Given the description of an element on the screen output the (x, y) to click on. 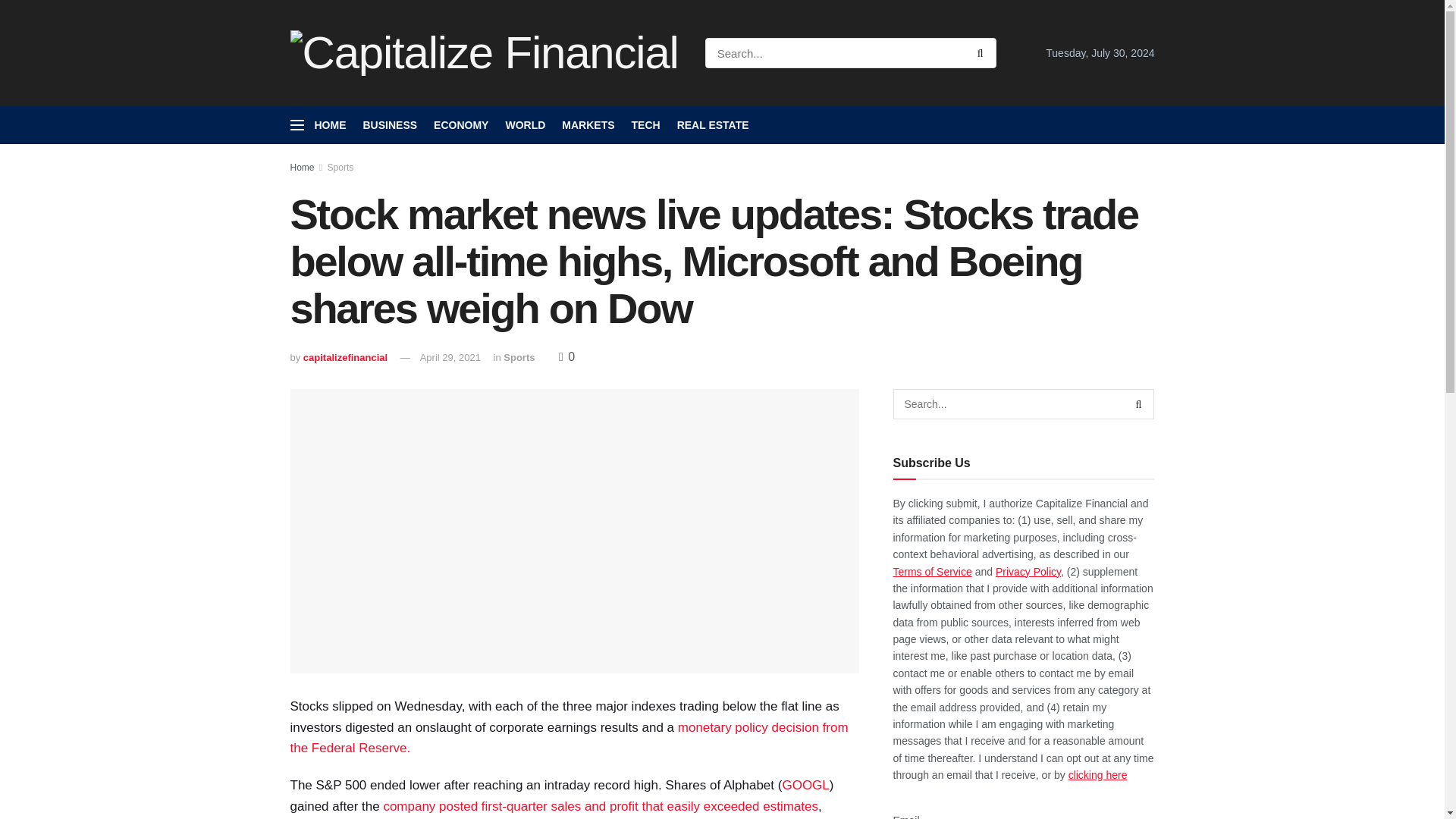
BUSINESS (389, 125)
0 (567, 356)
REAL ESTATE (713, 125)
Sports (518, 357)
MARKETS (588, 125)
ECONOMY (460, 125)
capitalizefinancial (344, 357)
Home (301, 167)
GOOGL (804, 785)
WORLD (524, 125)
Sports (340, 167)
 monetary policy decision from the Federal Reserve. (568, 737)
April 29, 2021 (450, 357)
